Given the description of an element on the screen output the (x, y) to click on. 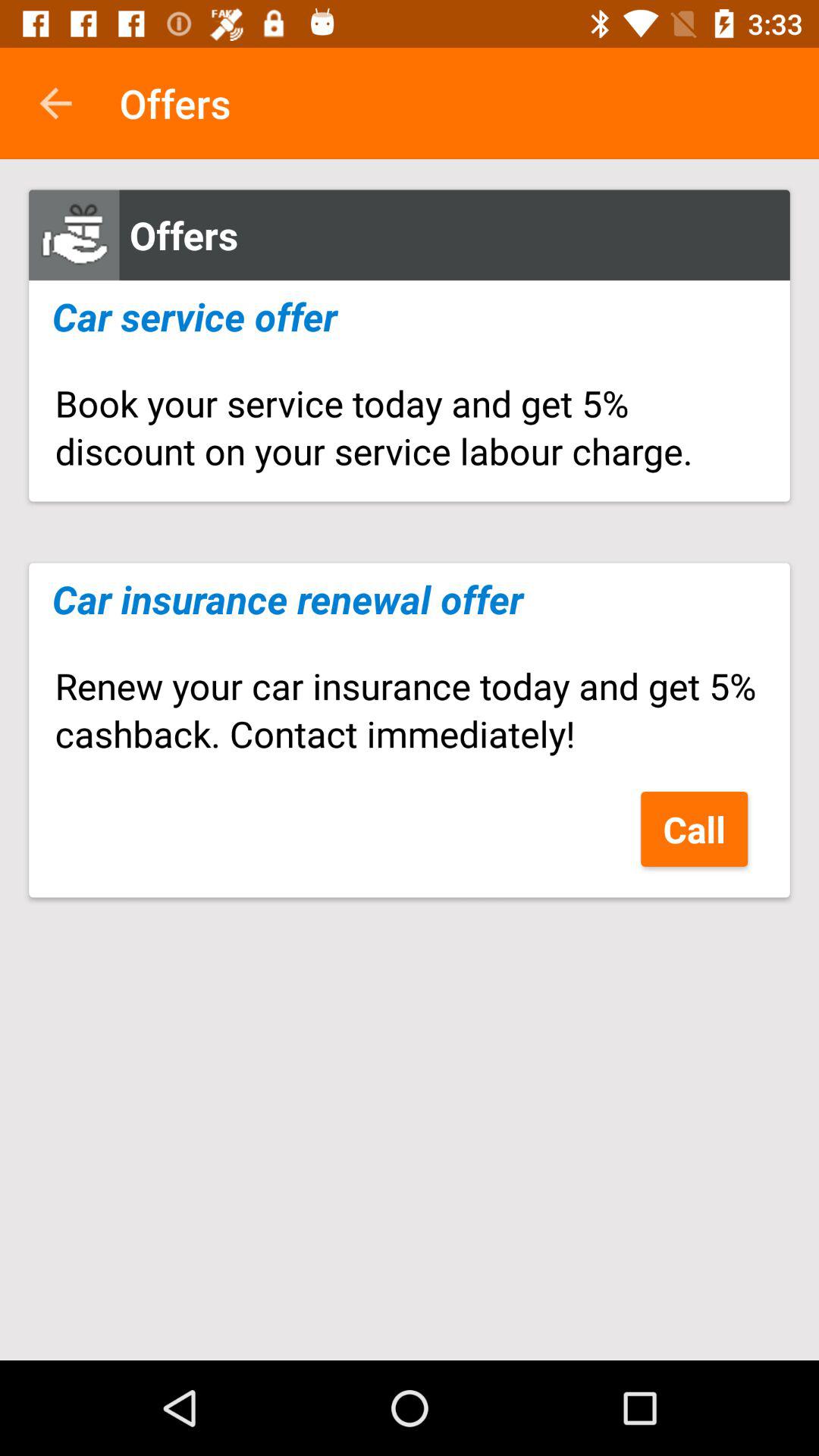
open the  call  item (693, 828)
